Given the description of an element on the screen output the (x, y) to click on. 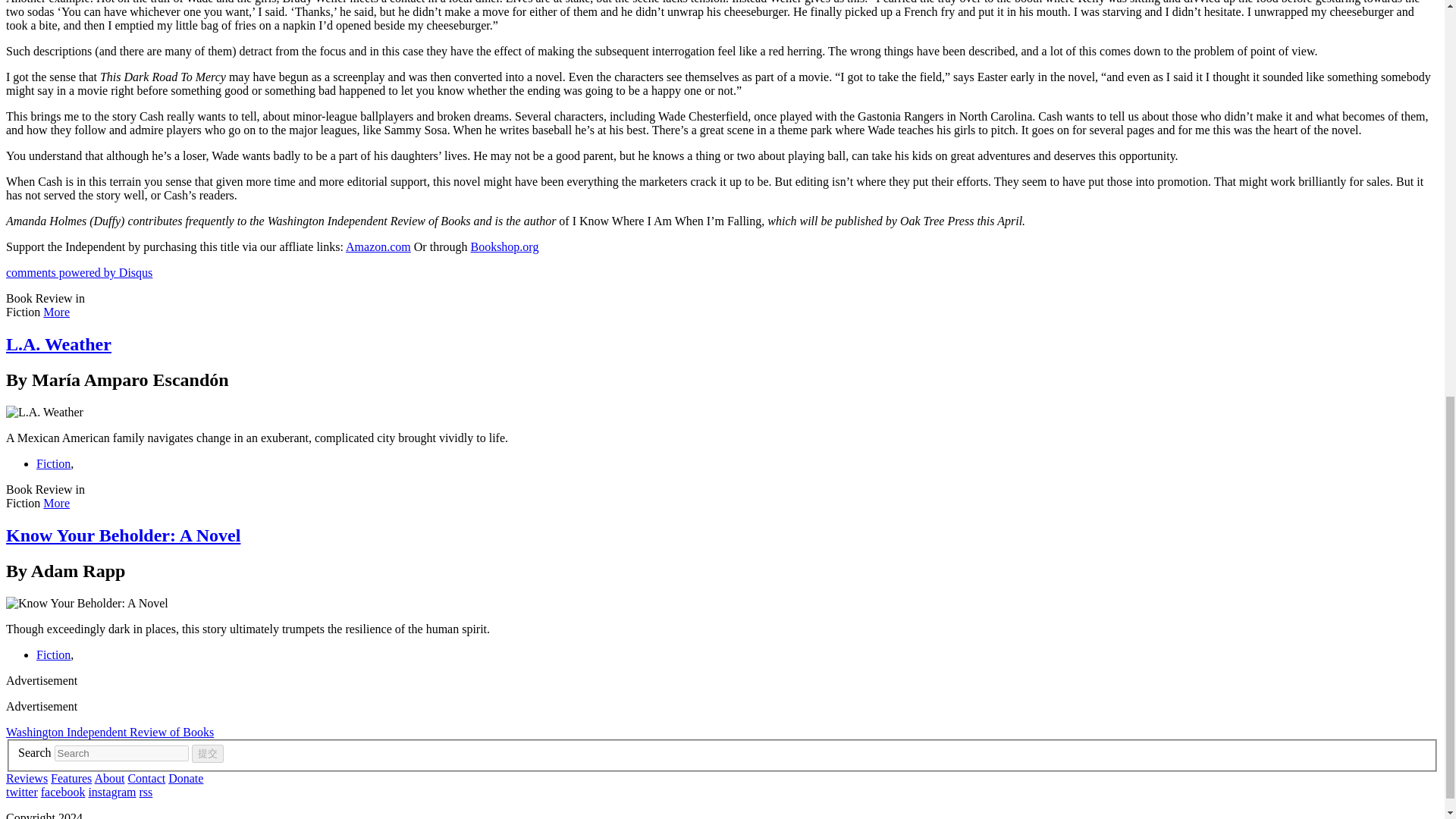
Features (70, 778)
Amazon.com (378, 246)
About (108, 778)
L.A. Weather (58, 343)
Fiction (52, 463)
More (56, 502)
More (56, 311)
Donate (185, 778)
twitter (21, 791)
facebook (62, 791)
Bookshop.org (504, 246)
Contact (146, 778)
comments powered by Disqus (78, 272)
Reviews (26, 778)
Washington Independent Review of Books (109, 731)
